Given the description of an element on the screen output the (x, y) to click on. 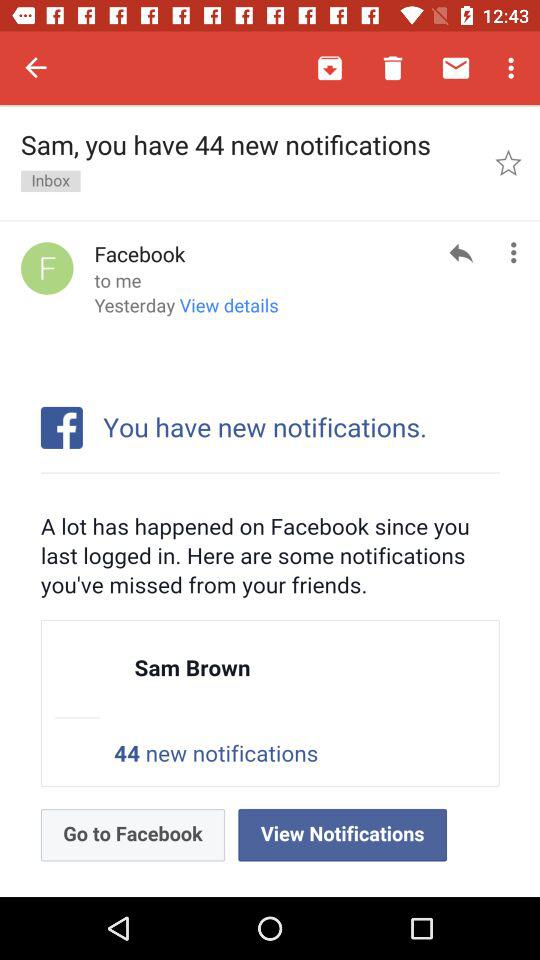
swipe until the yesterday view details item (186, 312)
